Given the description of an element on the screen output the (x, y) to click on. 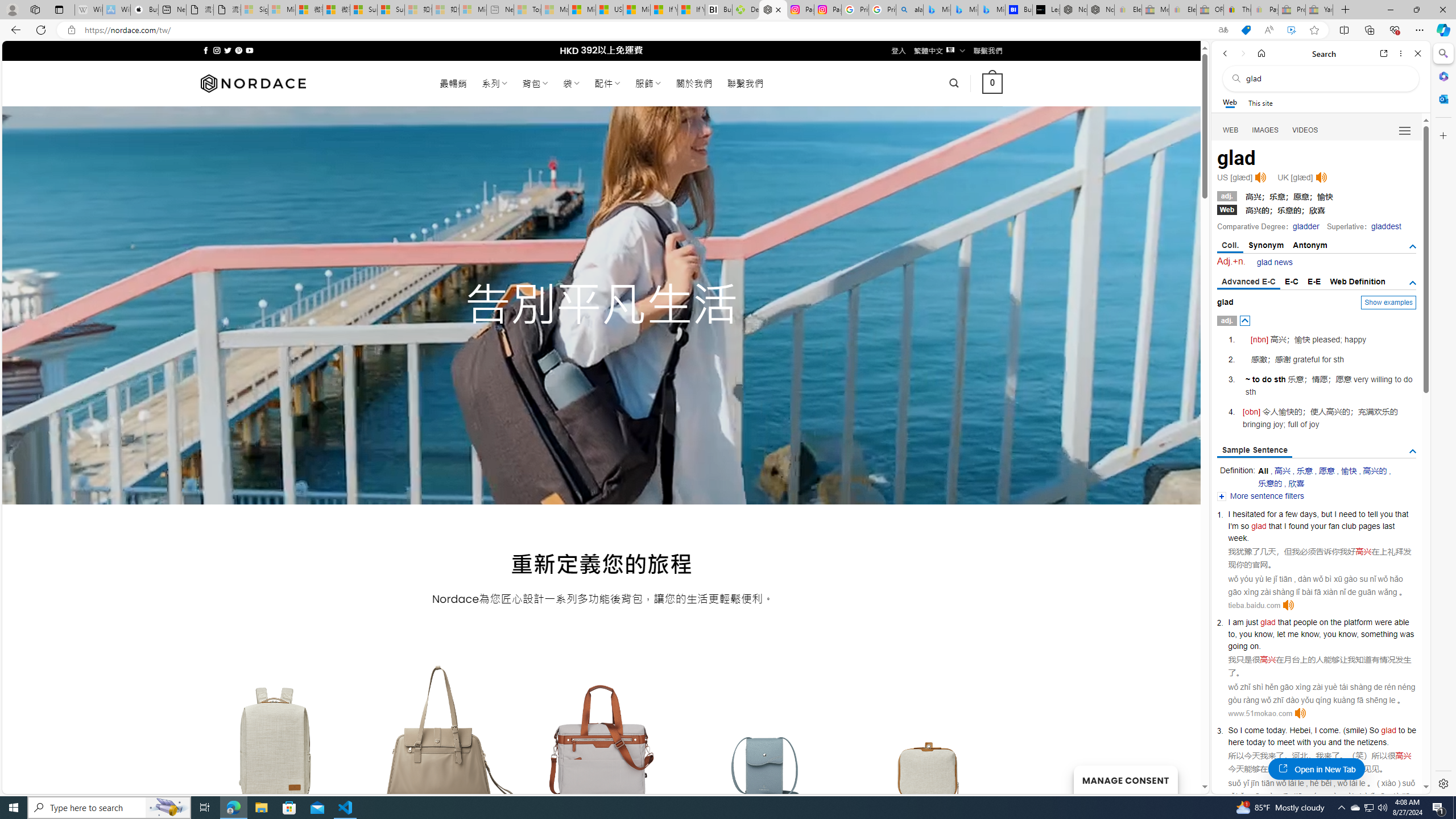
New tab (171, 9)
glad news (1274, 261)
Tab actions menu (58, 9)
Follow on Facebook (205, 50)
just (1250, 621)
last (1387, 525)
Microsoft Services Agreement - Sleeping (281, 9)
